Given the description of an element on the screen output the (x, y) to click on. 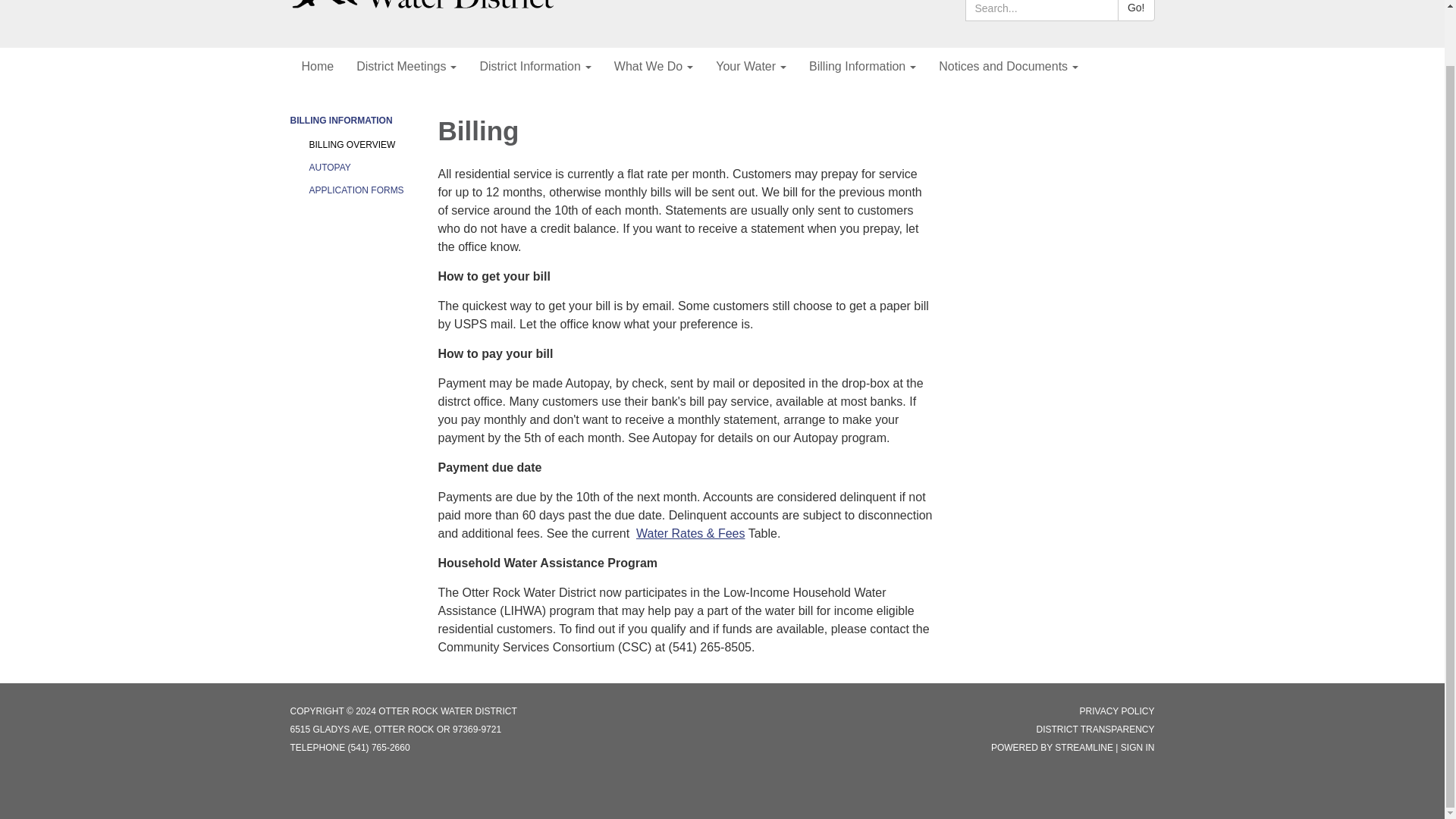
Go! (1136, 10)
What We Do (653, 66)
Special District Transparency Report (1094, 728)
District Meetings (406, 66)
Streamline: Technology for Special Districts (1083, 747)
Your Water (750, 66)
District Information (534, 66)
Home (317, 66)
